Given the description of an element on the screen output the (x, y) to click on. 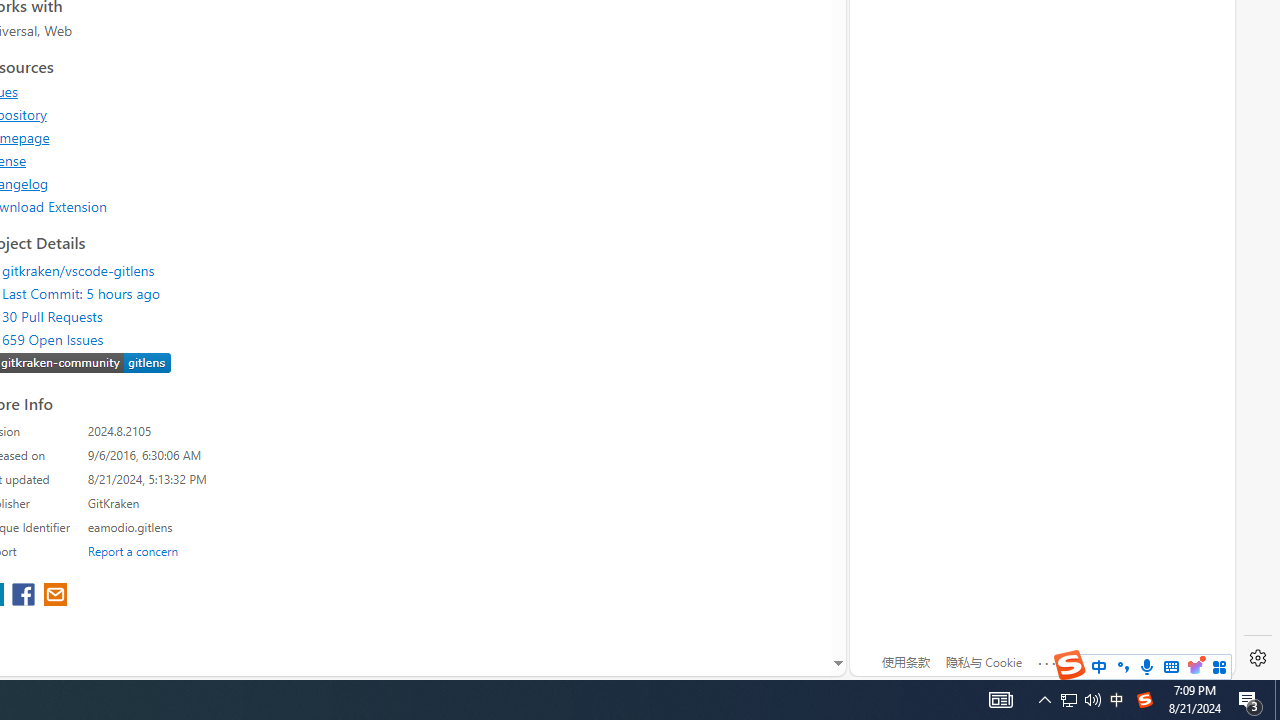
share extension on email (54, 596)
Report a concern (133, 550)
share extension on facebook (26, 596)
